Given the description of an element on the screen output the (x, y) to click on. 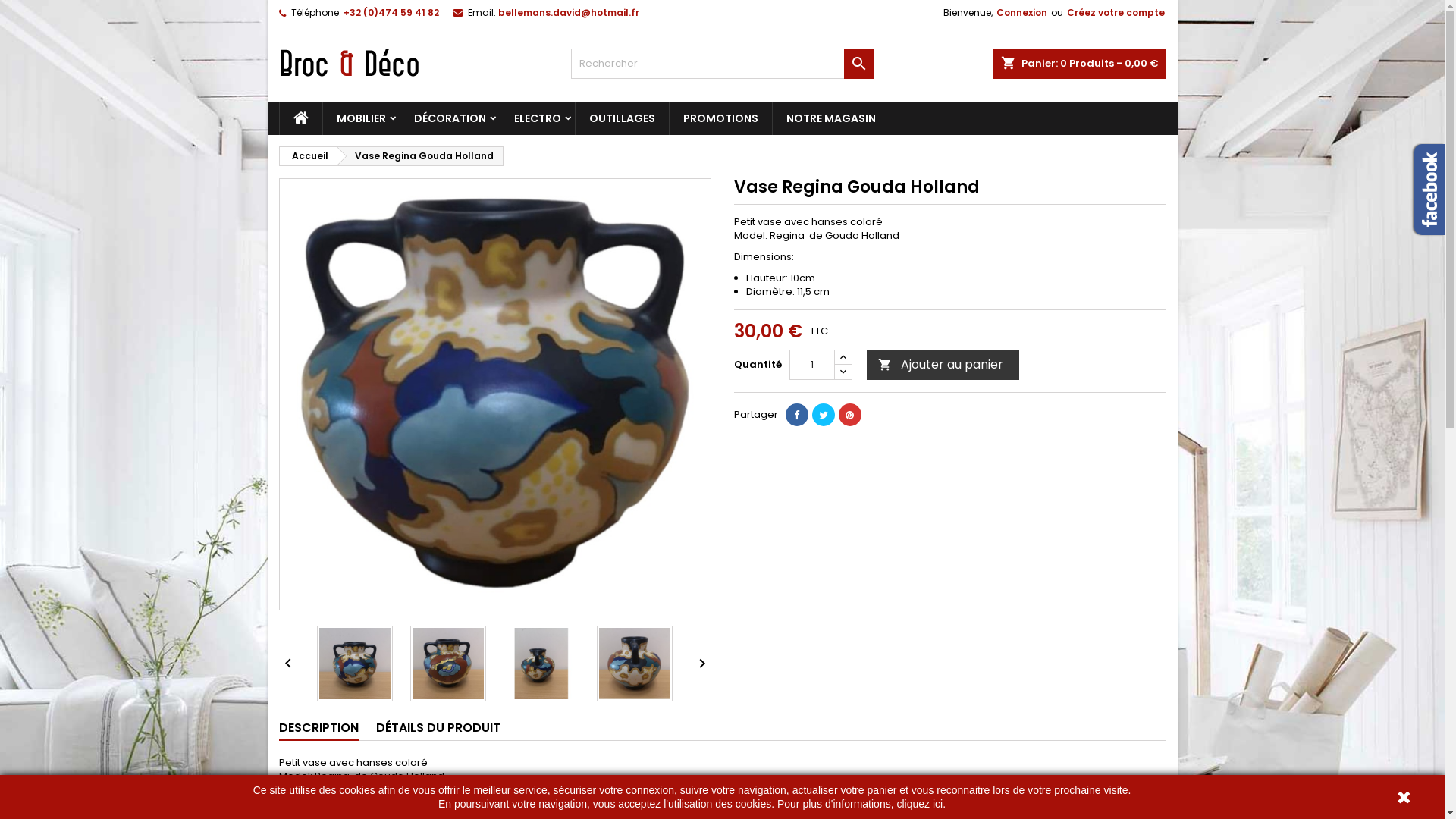
DESCRIPTION Element type: text (318, 728)
Vase Regina Gouda Holland Element type: text (420, 156)
Partager Element type: hover (796, 414)
PROMOTIONS Element type: text (719, 117)
cliquez ici Element type: text (919, 803)
MOBILIER Element type: text (361, 117)
ELECTRO Element type: text (537, 117)
Tweet Element type: hover (822, 414)
OUTILLAGES Element type: text (621, 117)
Pinterest Element type: hover (849, 414)
Accueil Element type: text (307, 156)
bellemans.david@hotmail.fr Element type: text (567, 12)
NOTRE MAGASIN Element type: text (829, 117)
+32 (0)474 59 41 82 Element type: text (390, 12)
Connexion Element type: text (1021, 12)
